Given the description of an element on the screen output the (x, y) to click on. 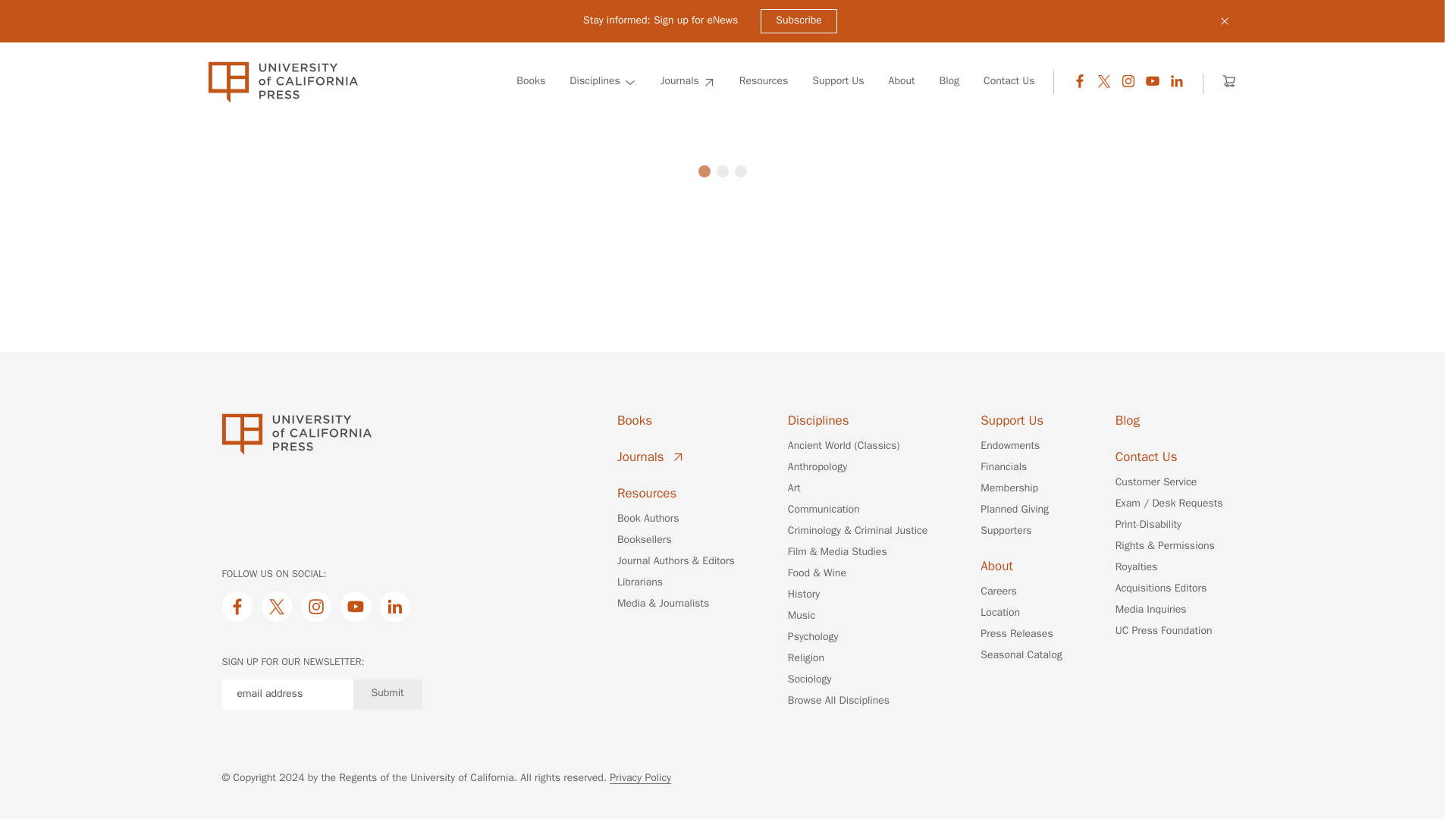
Disciplines (602, 82)
Books (530, 82)
Subscribe (798, 21)
Resources (764, 82)
University of California Press (282, 82)
Dismiss (1223, 21)
